Given the description of an element on the screen output the (x, y) to click on. 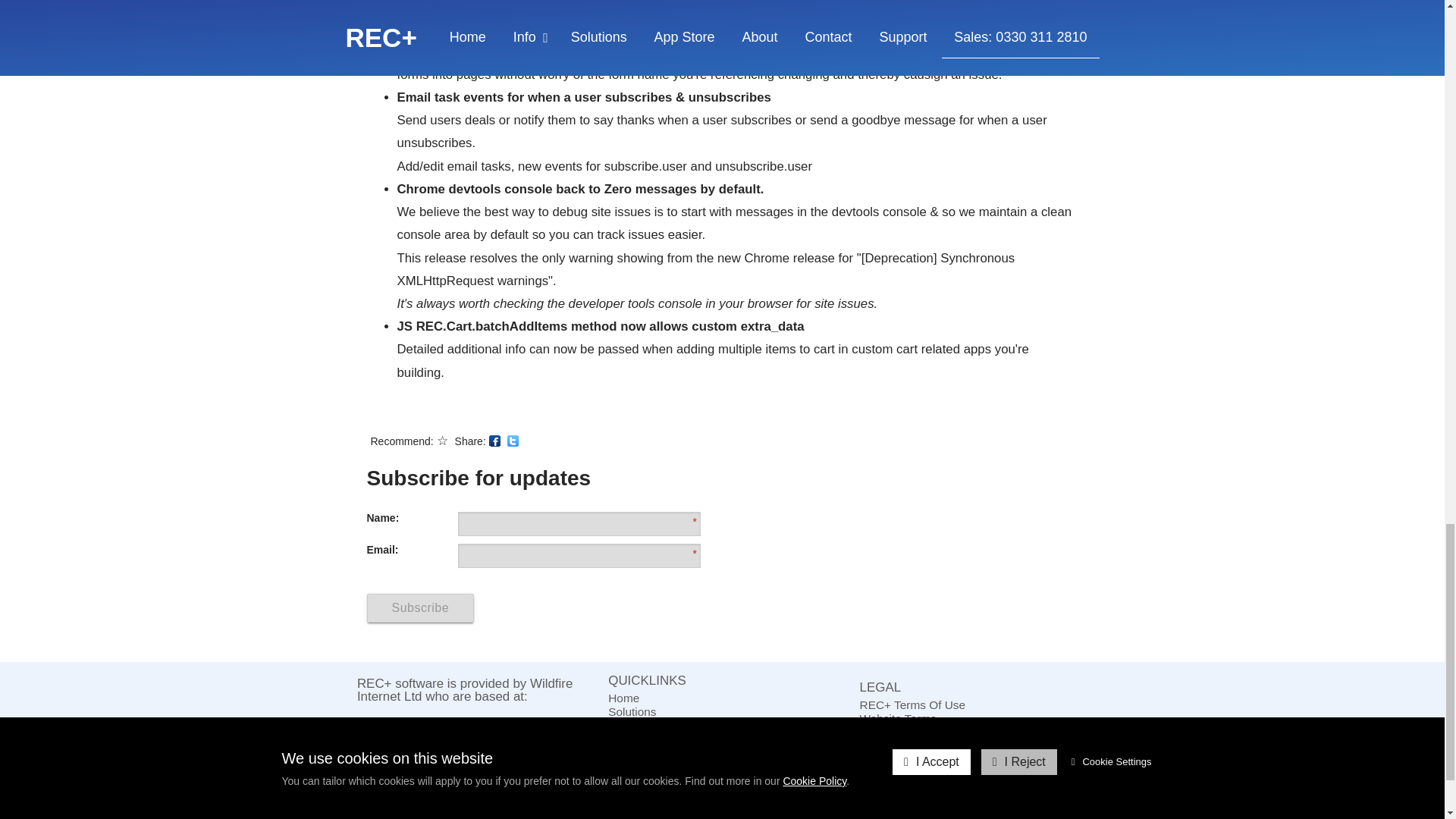
Contact (721, 739)
facebook (494, 440)
Privacy Policy For Google Services (973, 745)
Solutions (721, 712)
Home (721, 698)
twitter (512, 440)
Subscribe (420, 607)
Support (721, 753)
Home (721, 698)
Subscribe (420, 607)
